Given the description of an element on the screen output the (x, y) to click on. 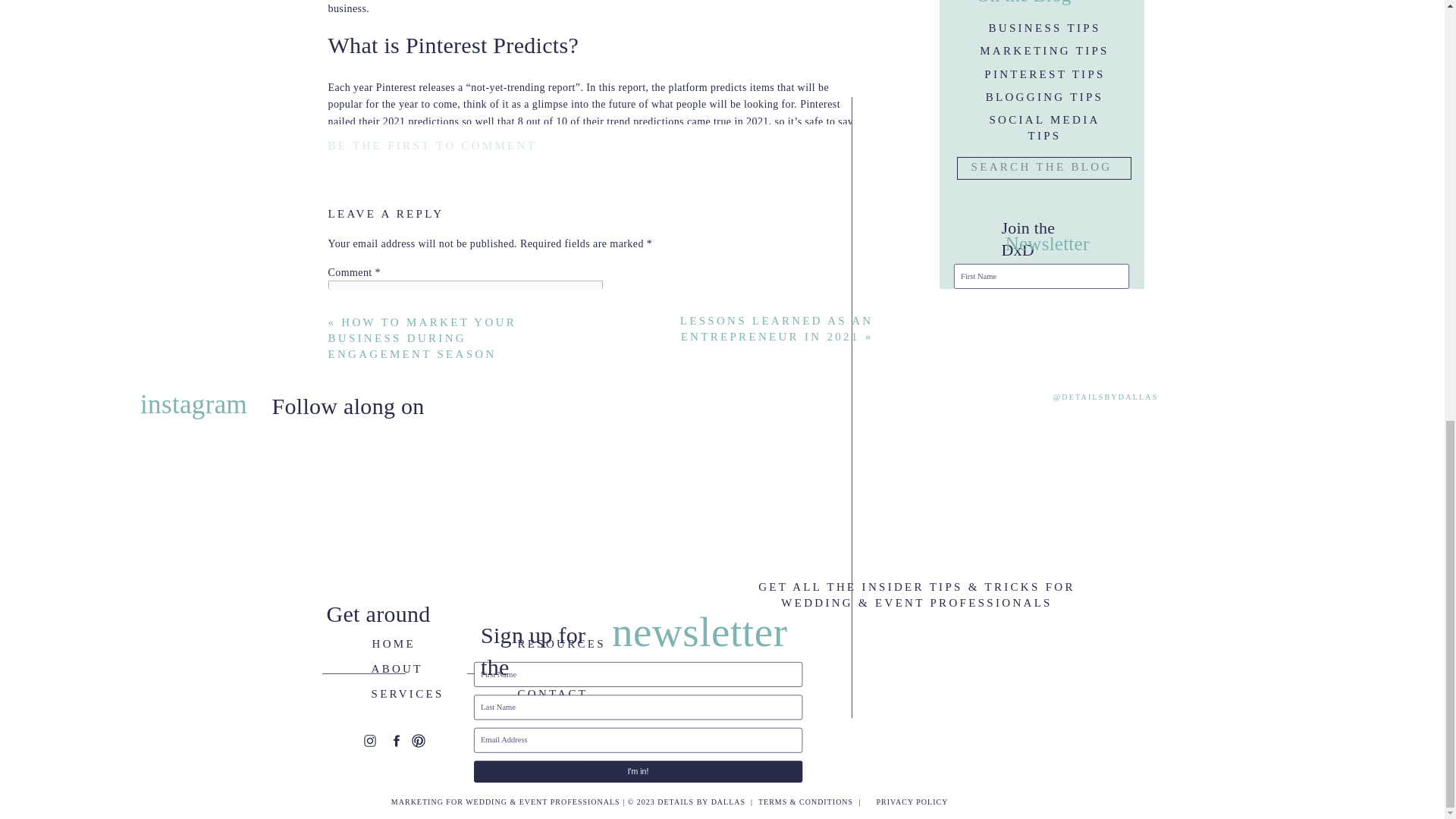
I'm in! (1078, 377)
I'm in! (1040, 331)
BLOGGING TIPS (1043, 94)
Post Comment (367, 644)
HOW TO MARKET YOUR BUSINESS DURING ENGAGEMENT SEASON (421, 338)
PINTEREST TIPS (1044, 71)
Source: Filosophi (448, 649)
MARKETING TIPS (1045, 48)
Post Comment (367, 644)
SOCIAL MEDIA TIPS (1043, 128)
